Given the description of an element on the screen output the (x, y) to click on. 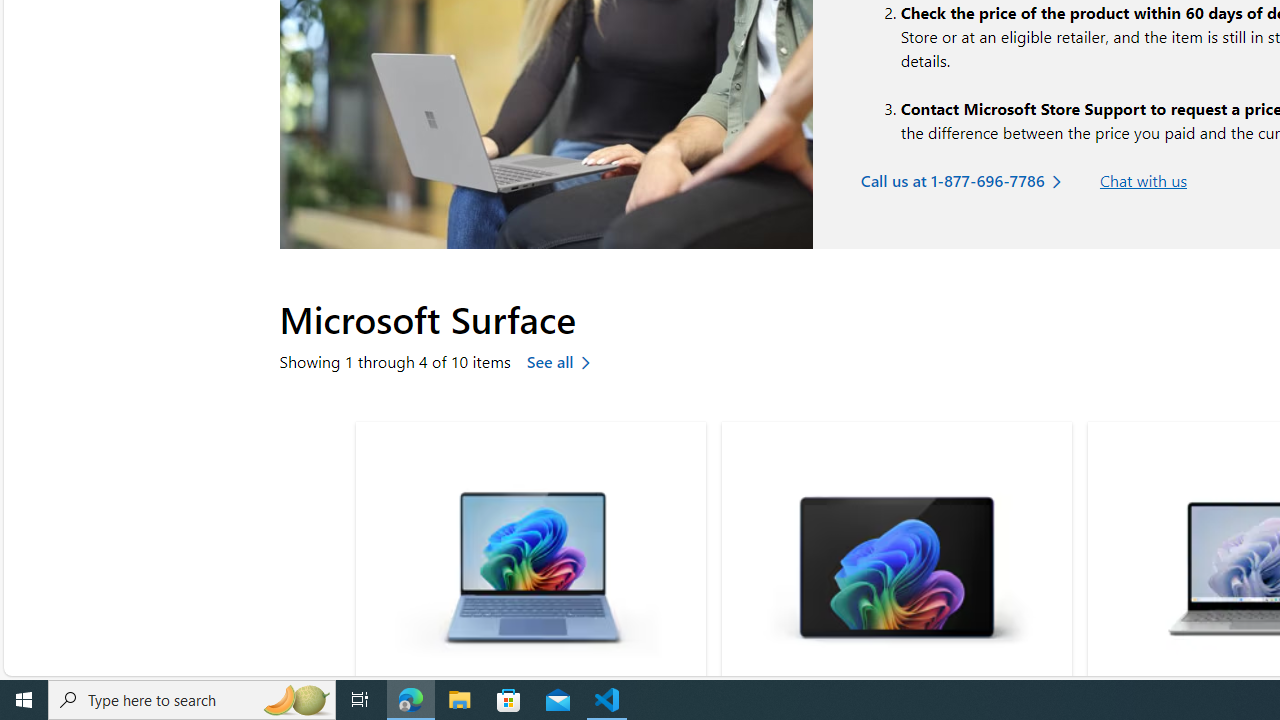
Call us at 1-877-696-7786 (966, 181)
Chat with us (1142, 181)
See all Microsoft Surface (563, 361)
